Given the description of an element on the screen output the (x, y) to click on. 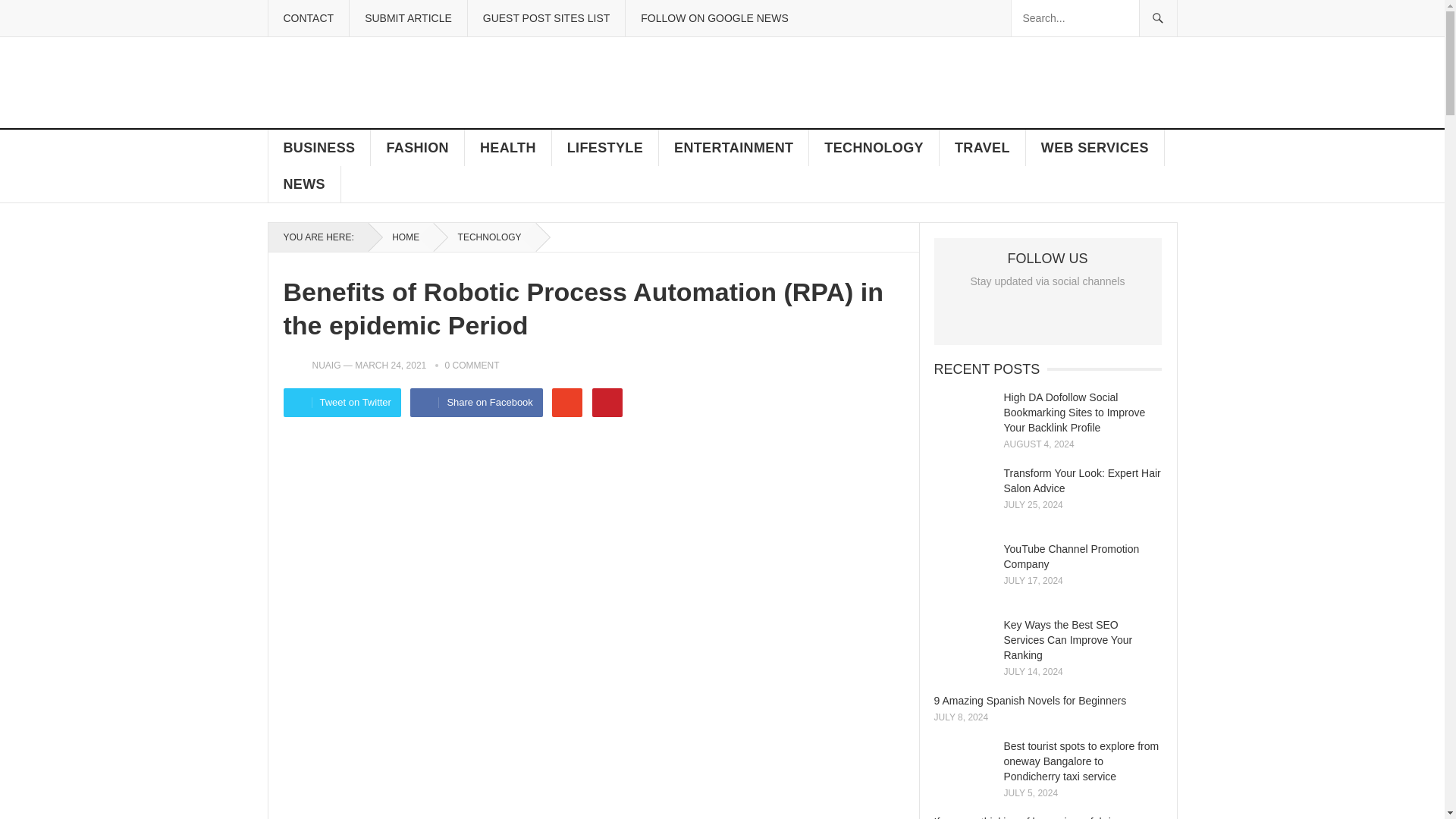
SUBMIT ARTICLE (408, 18)
TECHNOLOGY (874, 147)
FOLLOW ON GOOGLE NEWS (713, 18)
Posts by NuAIg (326, 365)
FASHION (417, 147)
TRAVEL (982, 147)
View all posts in Technology (484, 236)
NEWS (303, 184)
WEB SERVICES (1095, 147)
CONTACT (307, 18)
